Given the description of an element on the screen output the (x, y) to click on. 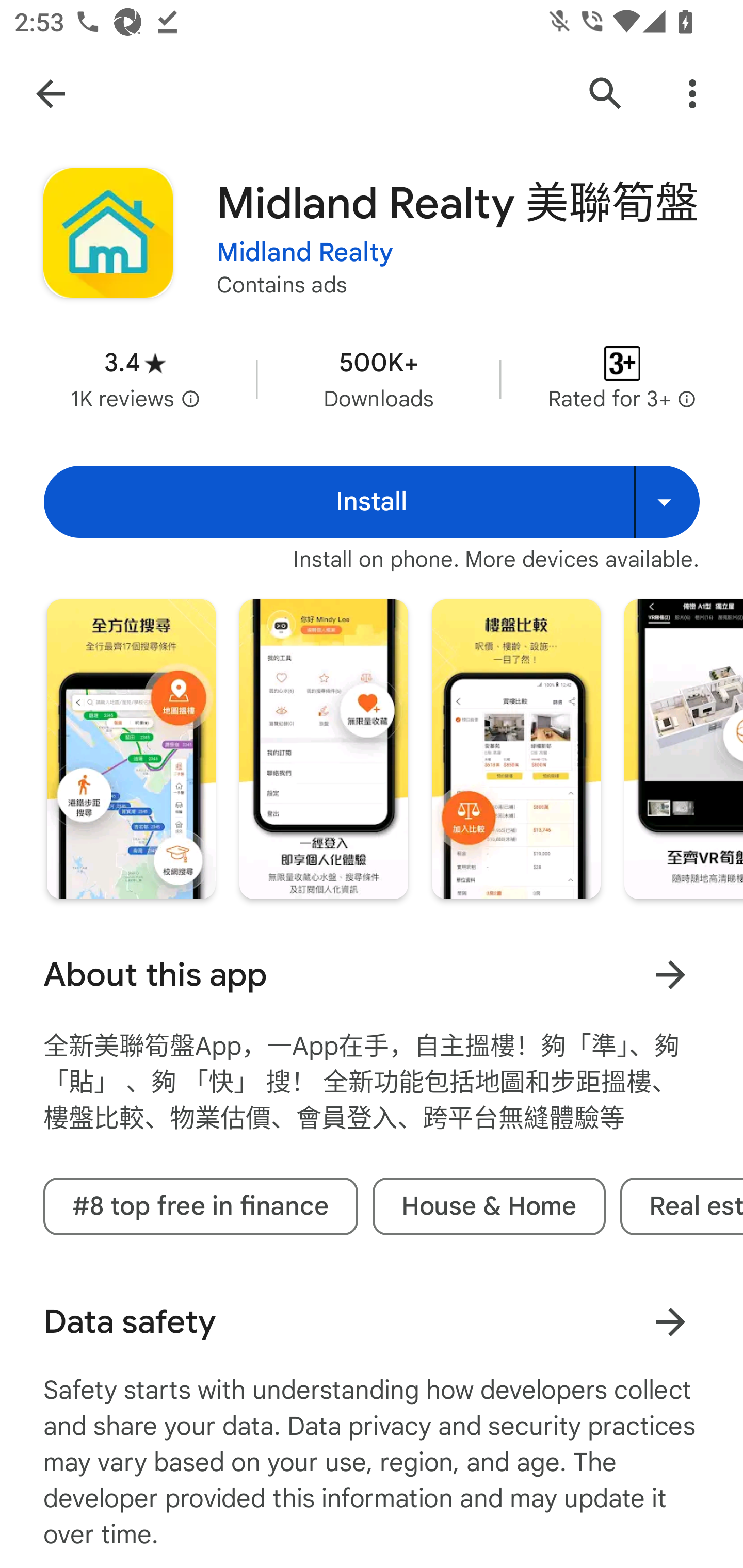
Navigate up (50, 93)
Search Google Play (605, 93)
More Options (692, 93)
Midland Realty (304, 253)
Average rating 3.4 stars in 1 thousand reviews (135, 379)
Content rating Rated for 3+ (622, 379)
Install Install Install on more devices (371, 501)
Install on more devices (667, 501)
Screenshot "1" of "7" (130, 748)
Screenshot "2" of "7" (323, 748)
Screenshot "3" of "7" (515, 748)
Screenshot "4" of "7" (683, 748)
About this app Learn more About this app (371, 974)
Learn more About this app (670, 974)
#8 top free in finance tag (200, 1206)
House & Home tag (488, 1206)
Data safety Learn more about data safety (371, 1321)
Learn more about data safety (670, 1321)
